Given the description of an element on the screen output the (x, y) to click on. 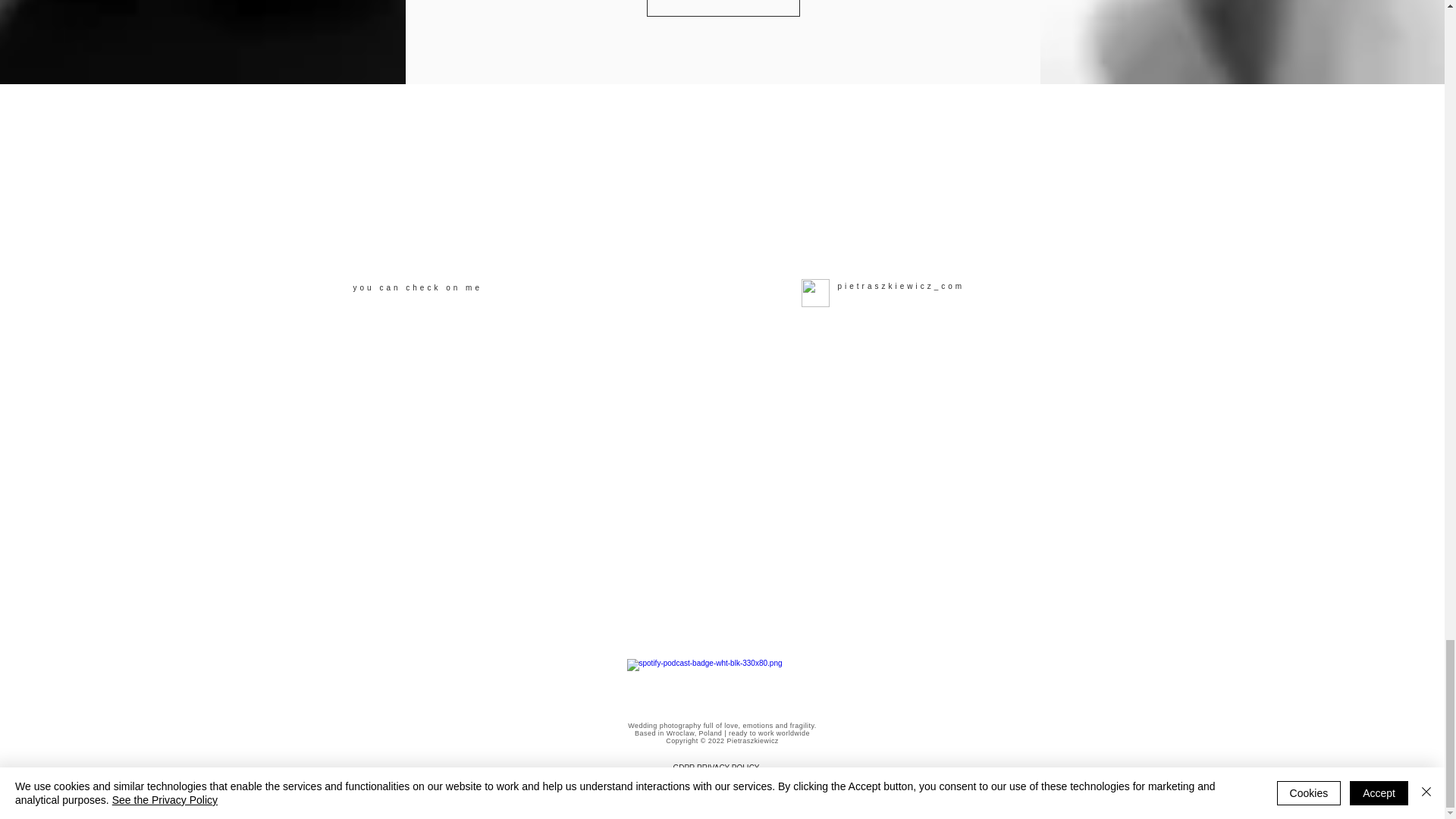
KONTAKT (722, 8)
FAQ (721, 778)
GDPR PRIVACY POLICY (715, 767)
